Given the description of an element on the screen output the (x, y) to click on. 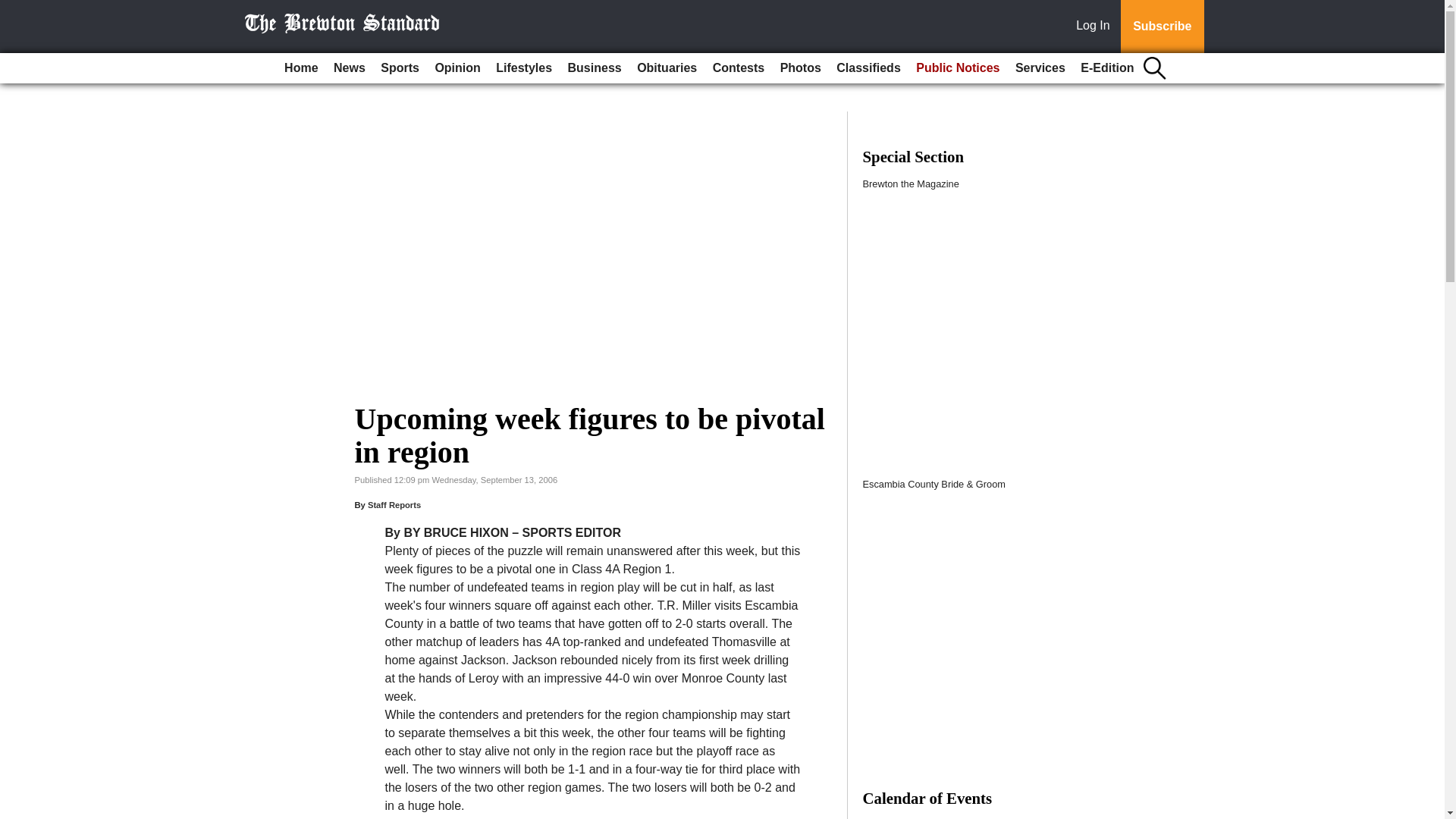
Photos (800, 68)
Business (594, 68)
Opinion (457, 68)
Staff Reports (394, 504)
Public Notices (958, 68)
Lifestyles (523, 68)
Go (13, 9)
E-Edition (1107, 68)
Classifieds (867, 68)
Sports (399, 68)
Subscribe (1162, 26)
Obituaries (666, 68)
Home (300, 68)
Contests (738, 68)
Log In (1095, 26)
